Given the description of an element on the screen output the (x, y) to click on. 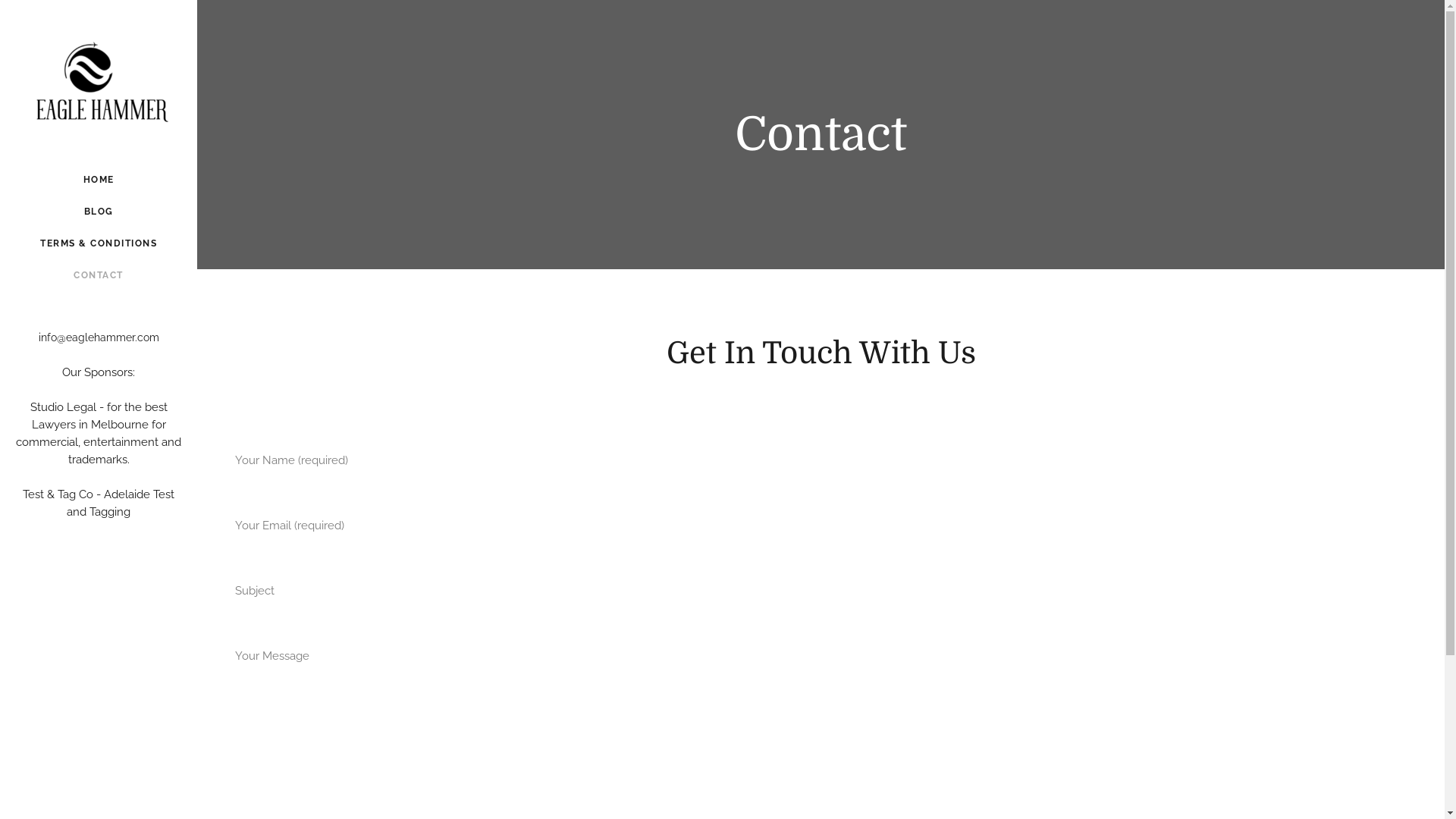
BLOG Element type: text (98, 211)
TERMS & CONDITIONS Element type: text (98, 243)
CONTACT Element type: text (98, 275)
Lawyers in Melbourne Element type: text (89, 424)
HOME Element type: text (98, 179)
Test & Tag Co Element type: text (57, 494)
